Given the description of an element on the screen output the (x, y) to click on. 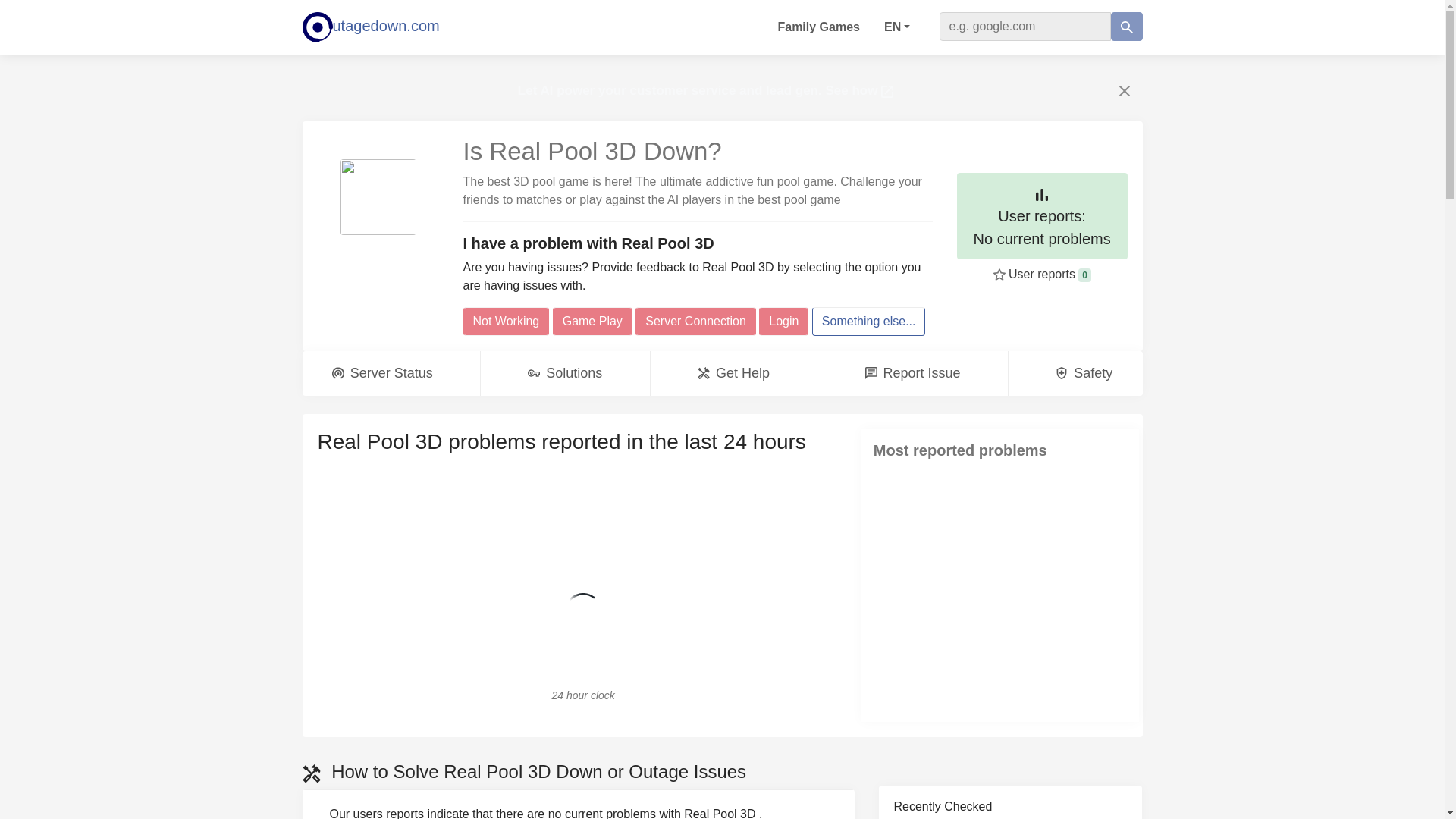
Report Issue (912, 373)
Solutions (564, 373)
 User reports 0 (1048, 273)
Server Connection (694, 321)
utagedown.com (1042, 216)
Let AI power your customer service and lead gen. See how (370, 27)
Not Working (705, 90)
Game Play (505, 321)
Server Status (592, 321)
Get Help (382, 373)
EN (733, 373)
Login (896, 27)
